Given the description of an element on the screen output the (x, y) to click on. 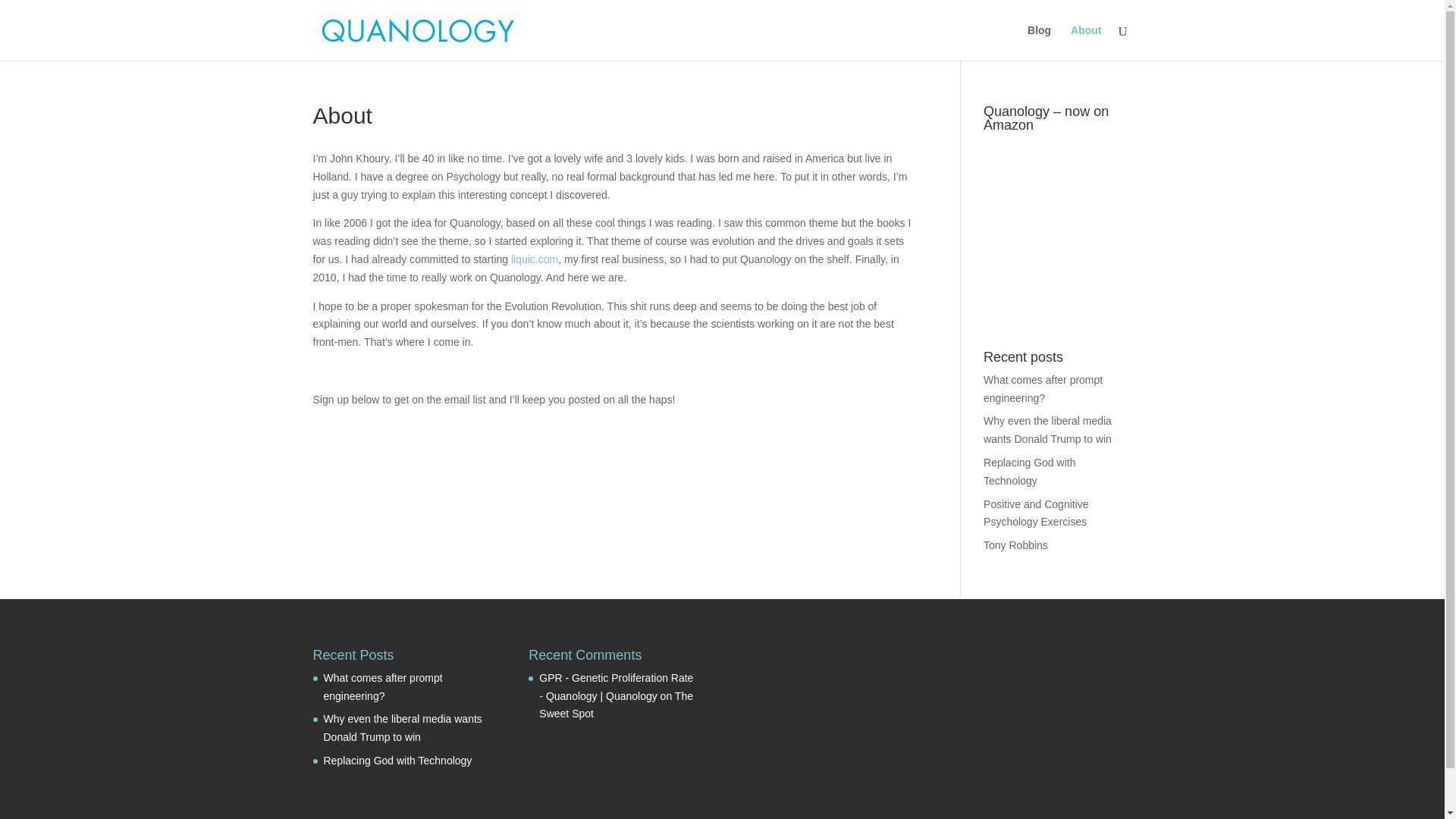
Replacing God with Technology (397, 760)
The Sweet Spot (615, 705)
Tony Robbins (1016, 544)
Why even the liberal media wants Donald Trump to win (402, 727)
liquic.com (534, 259)
Why even the liberal media wants Donald Trump to win (1048, 429)
Replacing God with Technology (1029, 471)
Positive and Cognitive Psychology Exercises (1036, 512)
What comes after prompt engineering? (382, 686)
Liquic - Therapist Directory (534, 259)
